Given the description of an element on the screen output the (x, y) to click on. 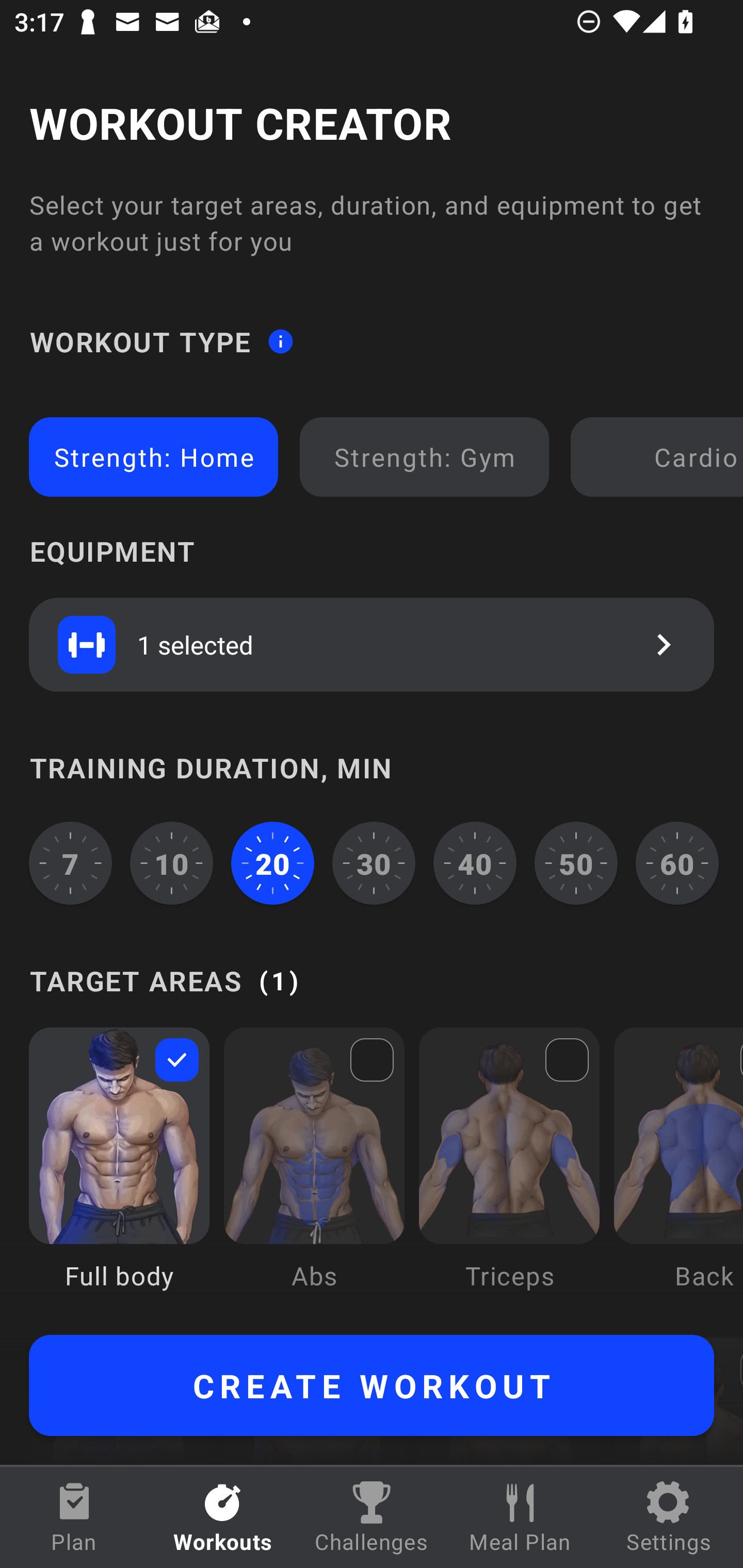
Workout type information button (280, 340)
Strength: Gym (423, 457)
Cardio (660, 457)
1 selected (371, 644)
7 (70, 862)
10 (171, 862)
20 (272, 862)
30 (373, 862)
40 (474, 862)
50 (575, 862)
60 (676, 862)
Abs (313, 1172)
Triceps (509, 1172)
Back (678, 1172)
CREATE WORKOUT (371, 1385)
 Plan  (74, 1517)
 Challenges  (371, 1517)
 Meal Plan  (519, 1517)
 Settings  (668, 1517)
